Given the description of an element on the screen output the (x, y) to click on. 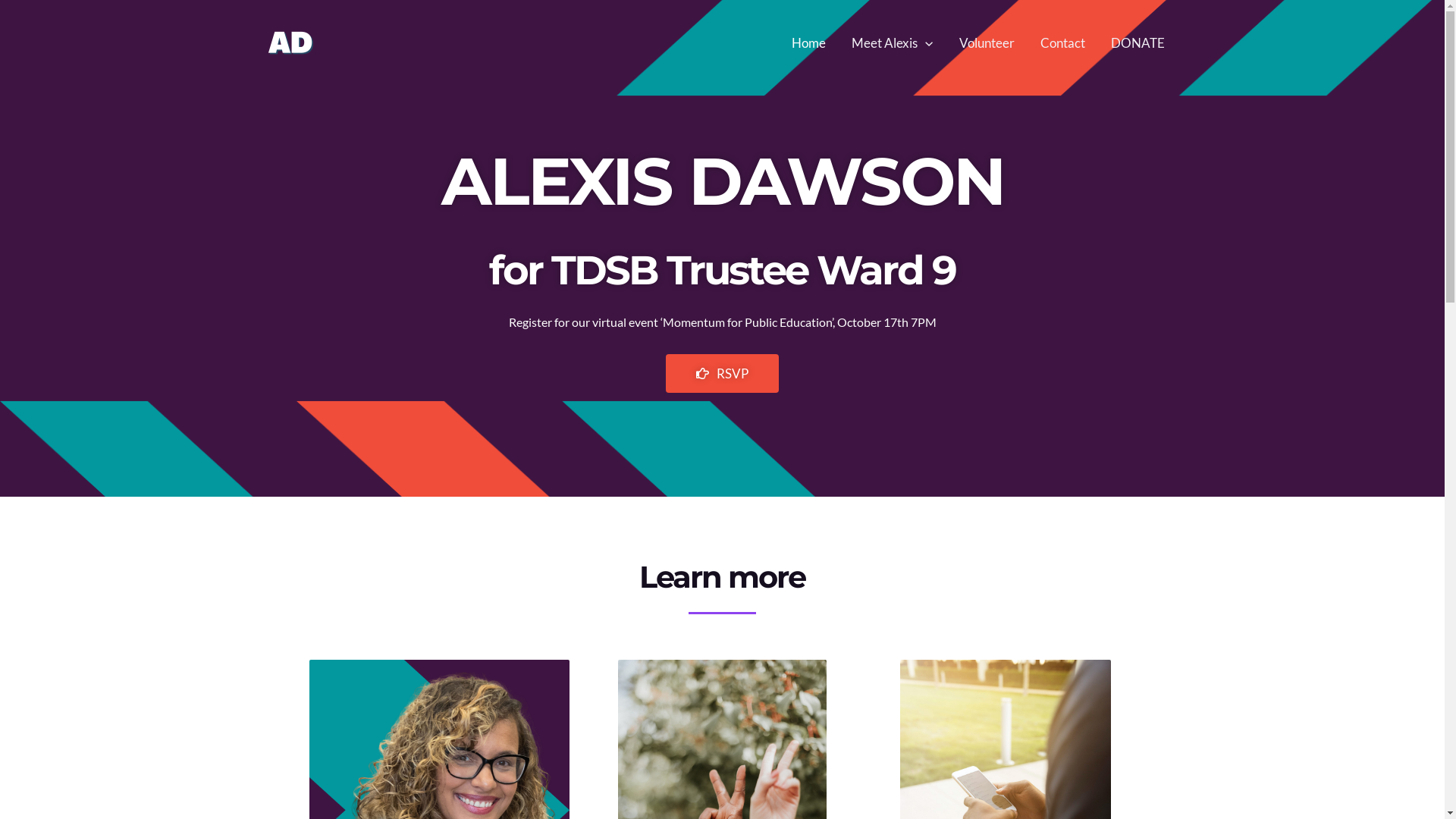
Meet Alexis Element type: text (891, 42)
Contact Element type: text (1061, 42)
Volunteer Element type: text (986, 42)
DONATE Element type: text (1137, 42)
RSVP Element type: text (721, 373)
Home Element type: text (808, 42)
